Given the description of an element on the screen output the (x, y) to click on. 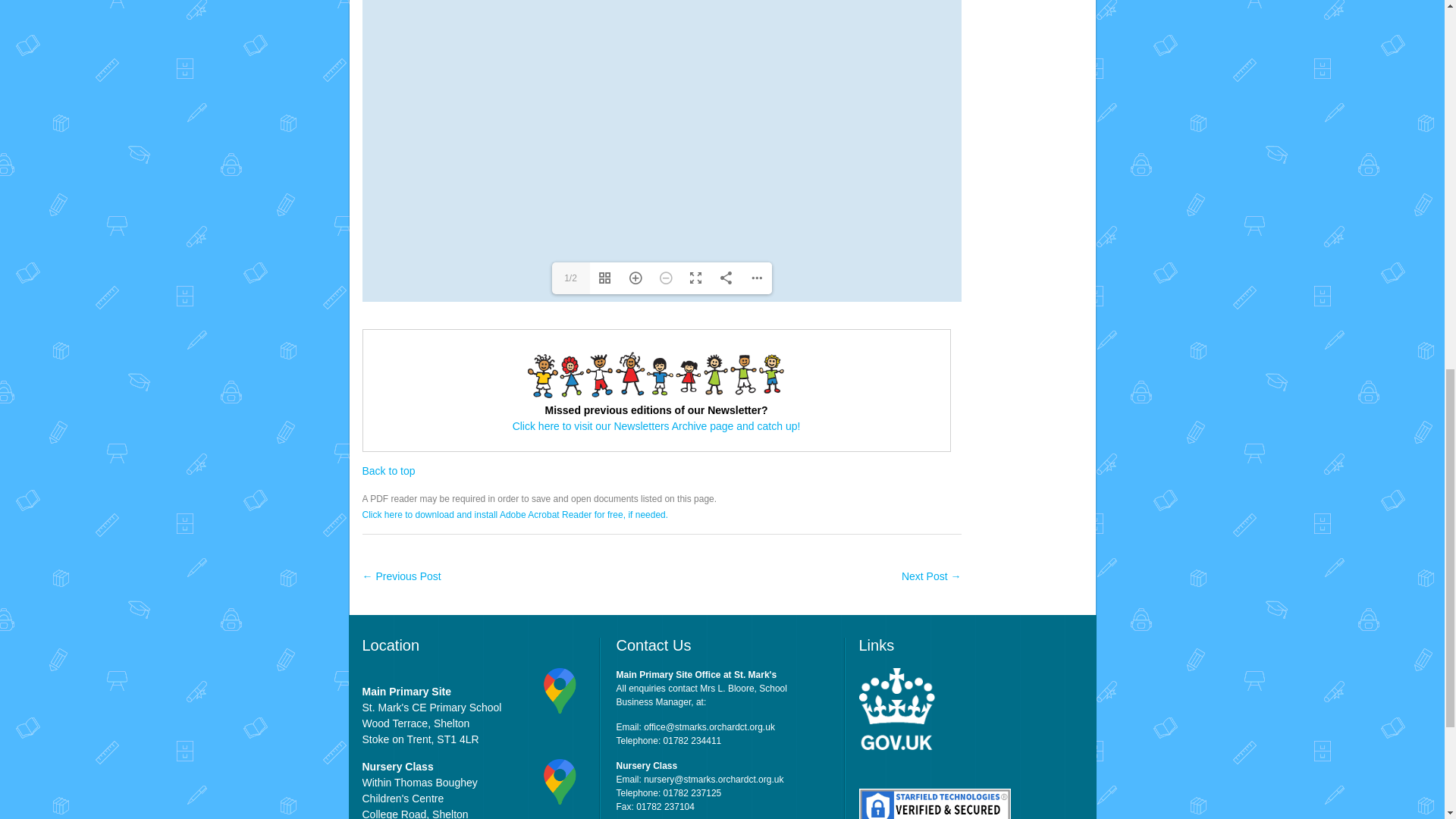
Toggle Thumbnails (604, 278)
Zoom In (635, 278)
Share (726, 278)
Zoom Out (665, 278)
Toggle Fullscreen (696, 278)
